Given the description of an element on the screen output the (x, y) to click on. 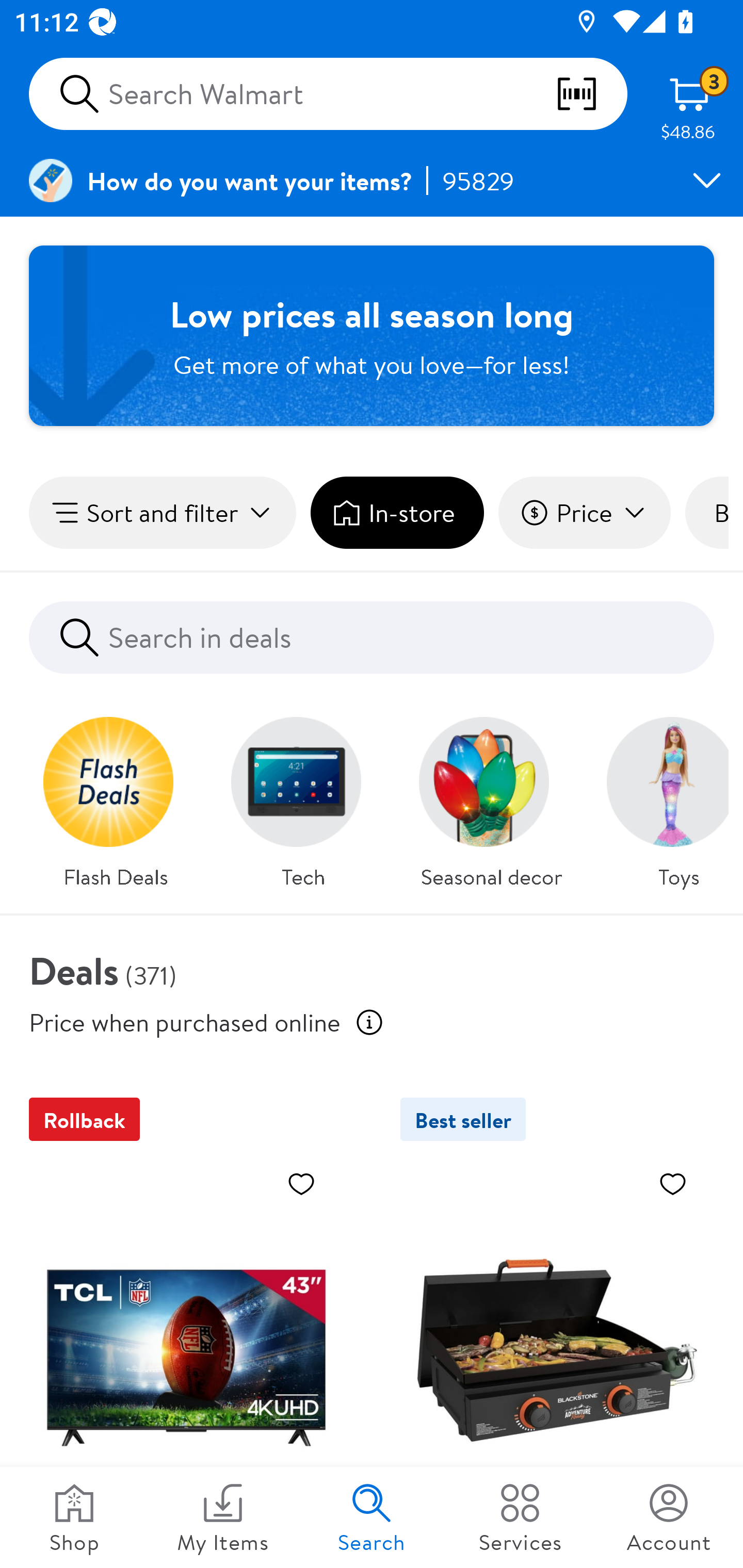
Search Walmart scan barcodes qr codes and more (327, 94)
scan barcodes qr codes and more (591, 94)
Filter by In-store, applied,  Filter icon In-store (396, 512)
Search in deals (371, 638)
Search by Flash Deals Flash Deals (115, 797)
Search by Tech Tech (303, 797)
Search by Seasonal decor Seasonal decor (491, 797)
Search by Toys Toys (660, 797)
Price when purchased online (184, 1021)
Price when purchased online (369, 1022)
Shop (74, 1517)
My Items (222, 1517)
Services (519, 1517)
Account (668, 1517)
